Given the description of an element on the screen output the (x, y) to click on. 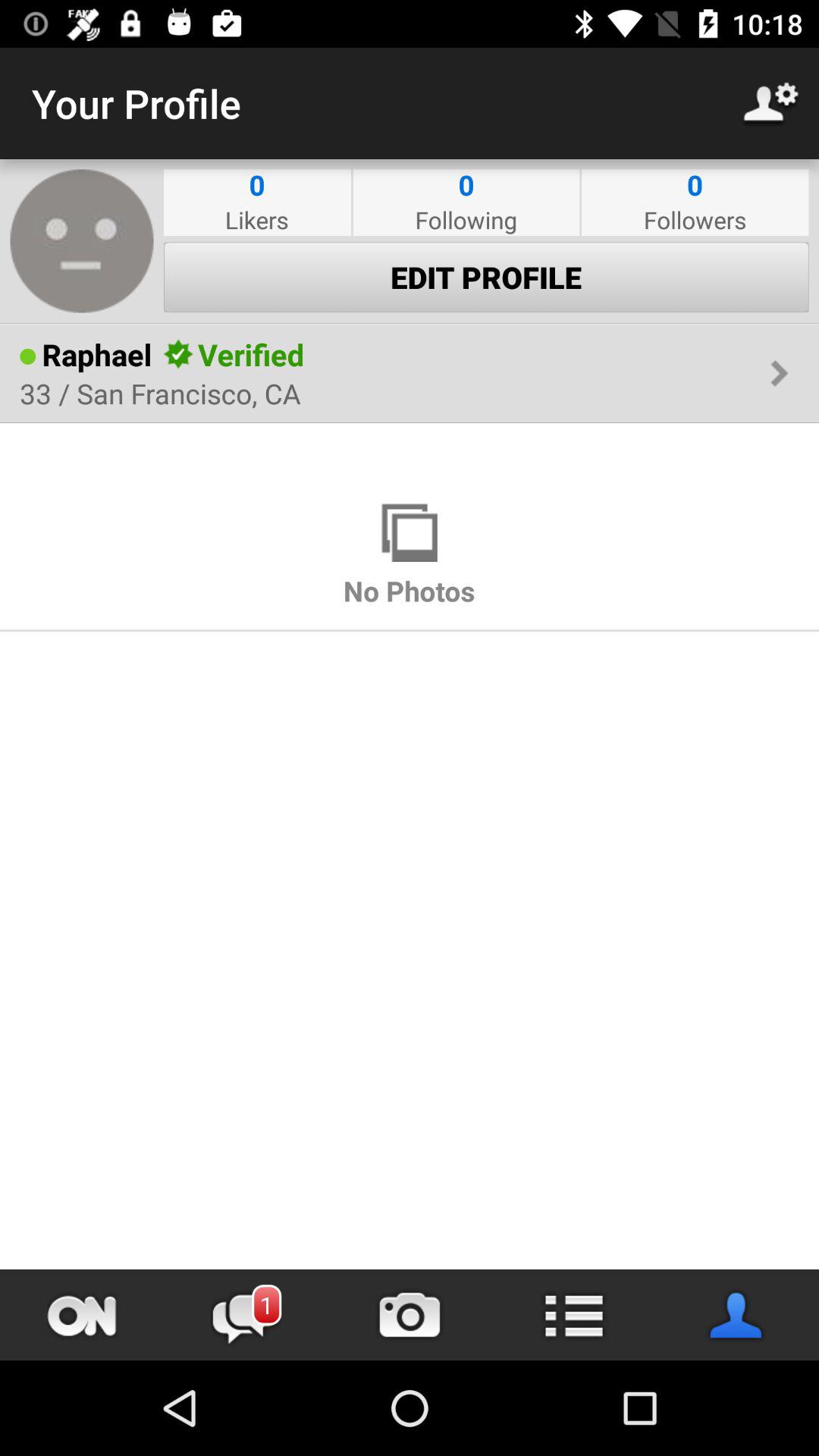
jump to raphael (96, 354)
